Given the description of an element on the screen output the (x, y) to click on. 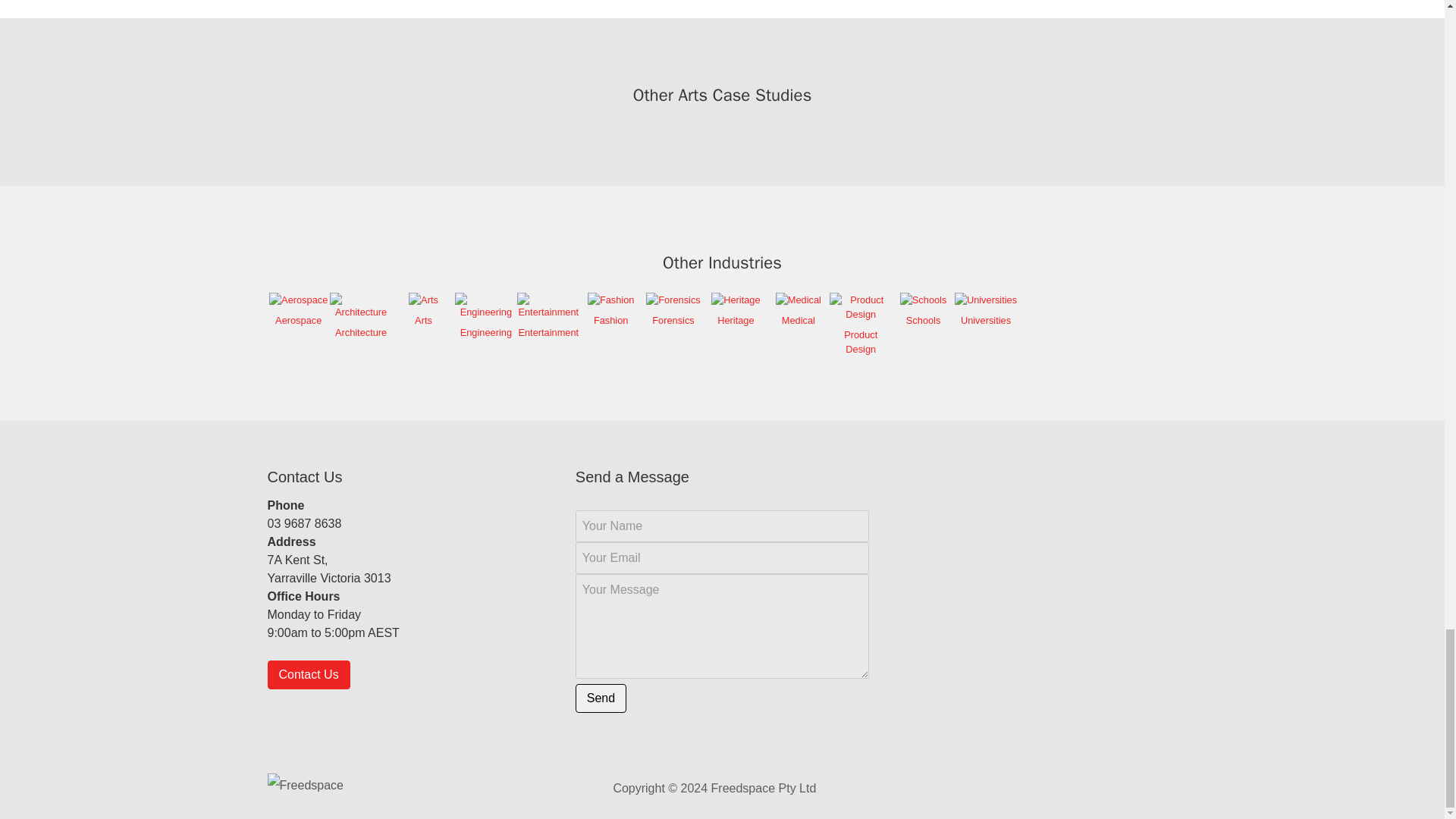
Send (600, 697)
